Given the description of an element on the screen output the (x, y) to click on. 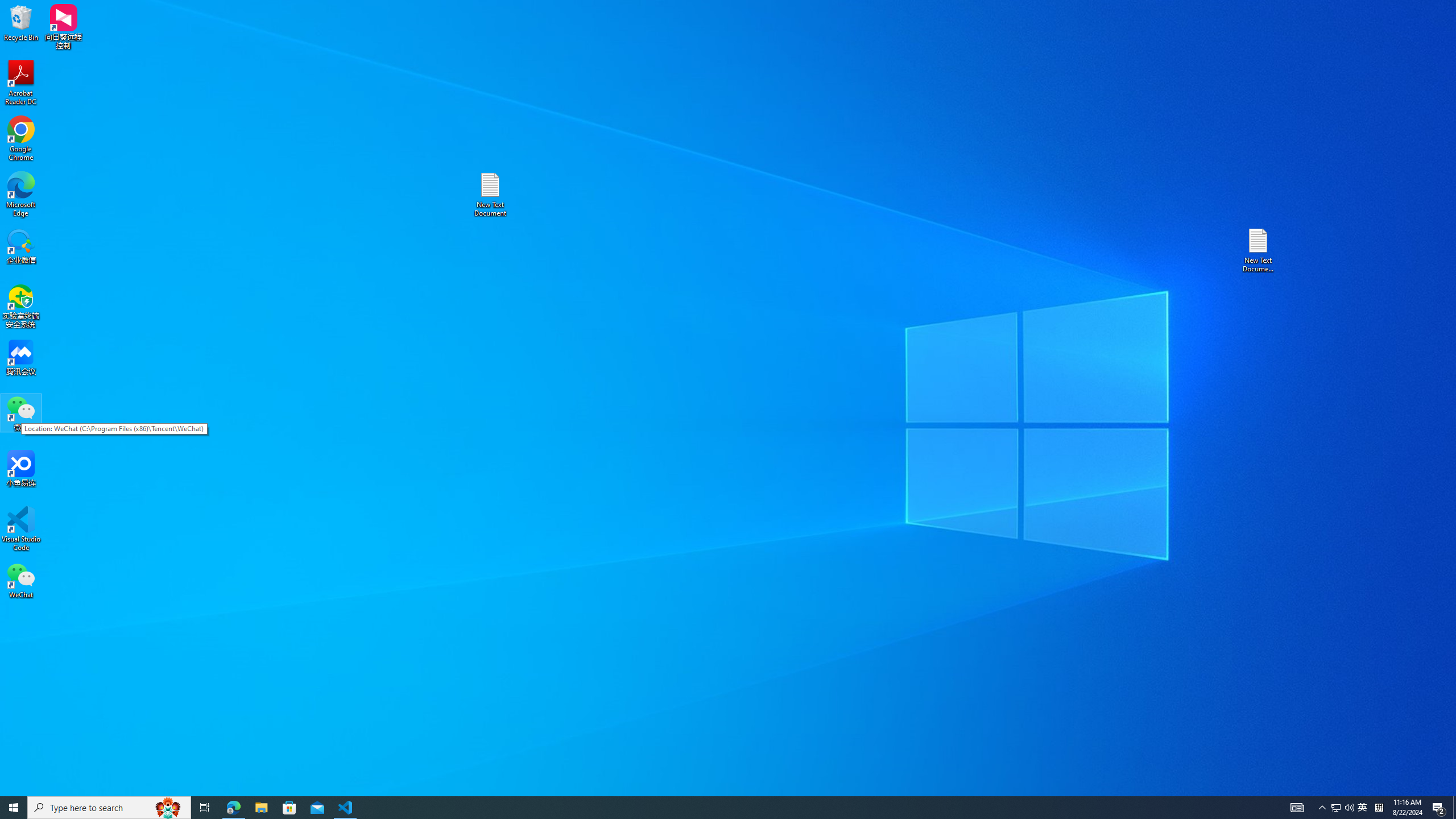
Microsoft Store (289, 807)
Microsoft Edge - 1 running window (233, 807)
Type here to search (108, 807)
Acrobat Reader DC (21, 82)
